Given the description of an element on the screen output the (x, y) to click on. 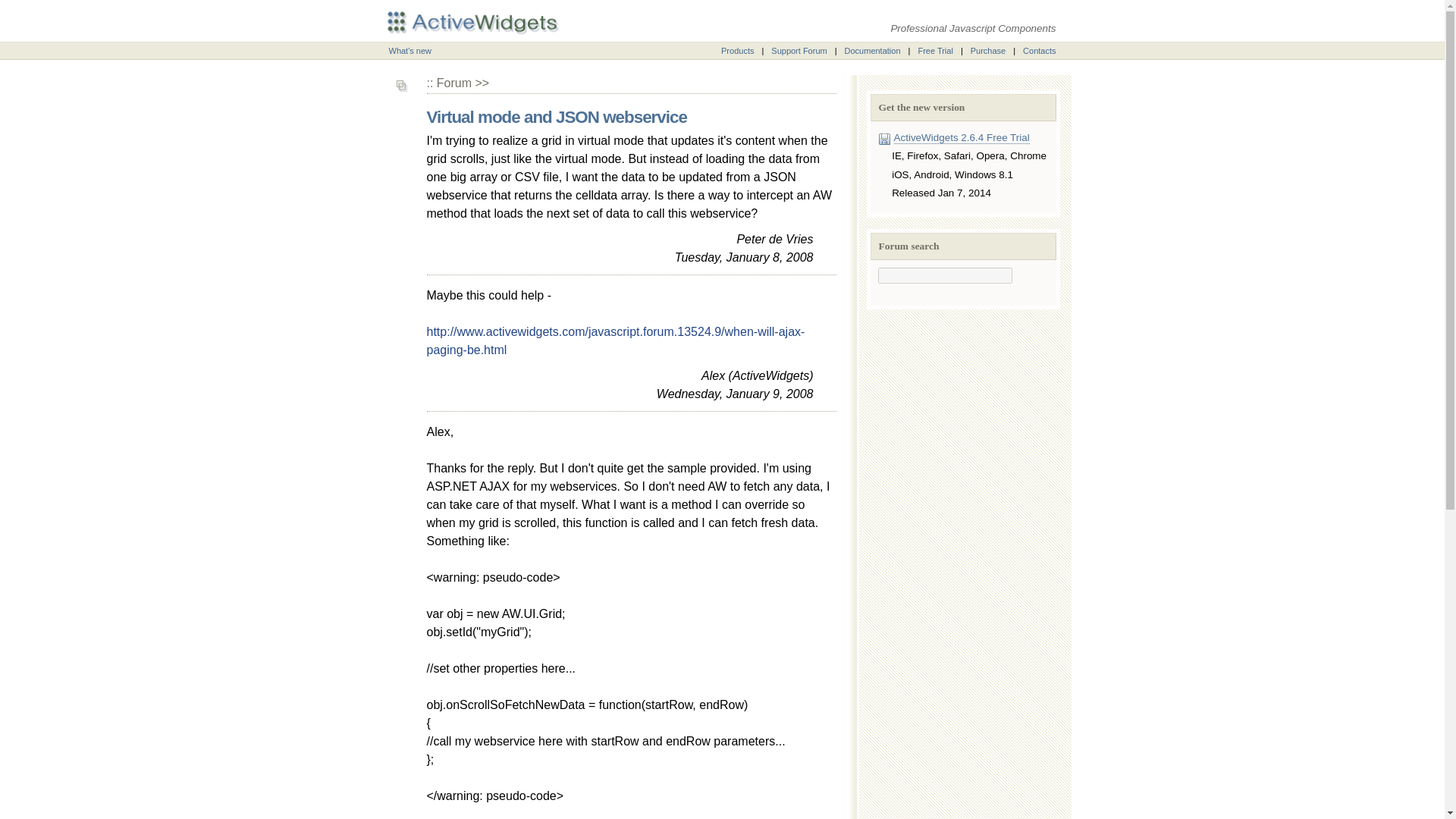
Purchase (988, 50)
ActiveWidgets 2.6.4 Free Trial (961, 137)
Support Forum (799, 50)
Free Trial (934, 50)
Contacts (1039, 50)
Products (737, 50)
Documentation (872, 50)
What's new (409, 50)
